Given the description of an element on the screen output the (x, y) to click on. 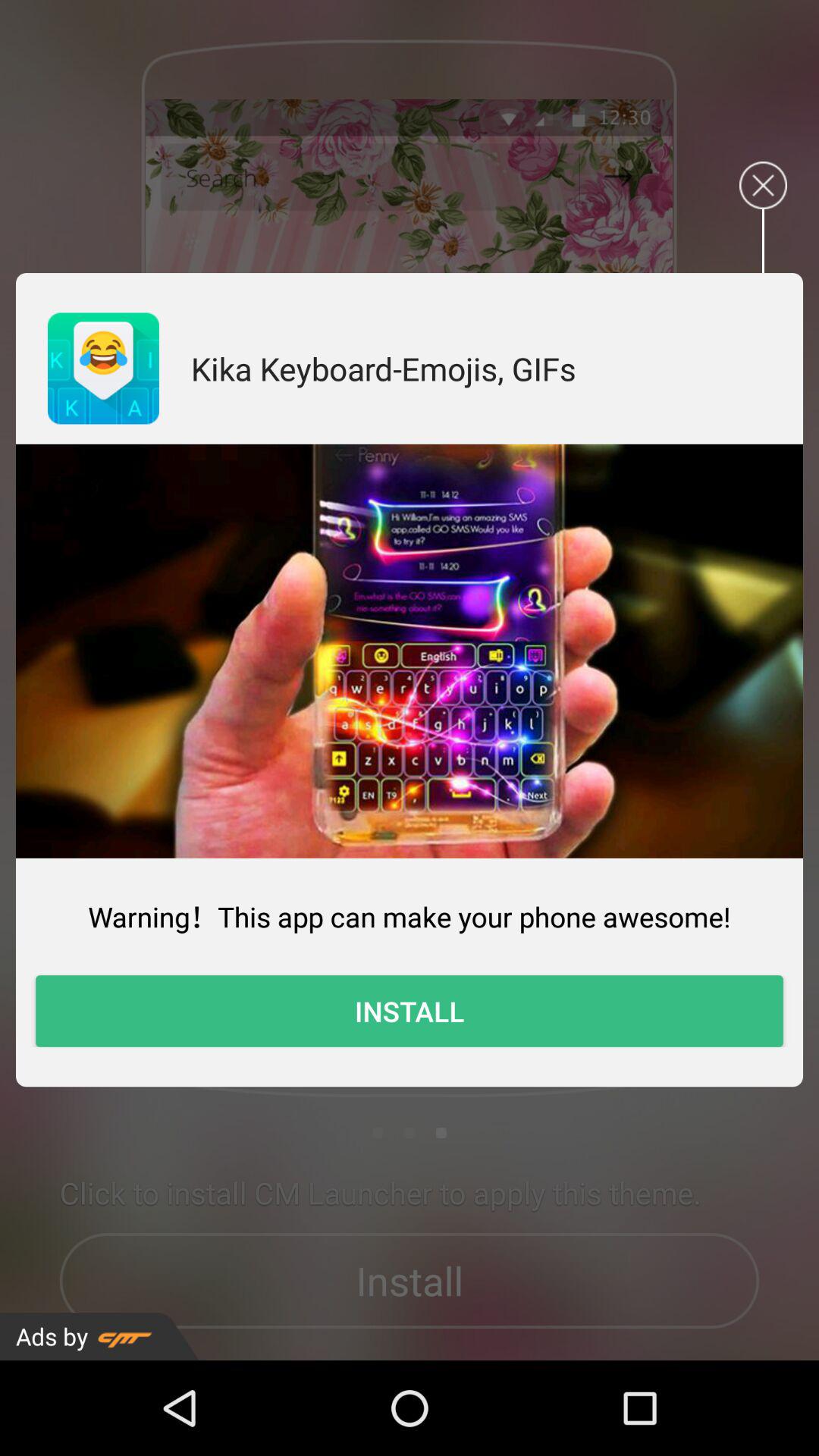
swipe until the warning this app app (409, 916)
